Given the description of an element on the screen output the (x, y) to click on. 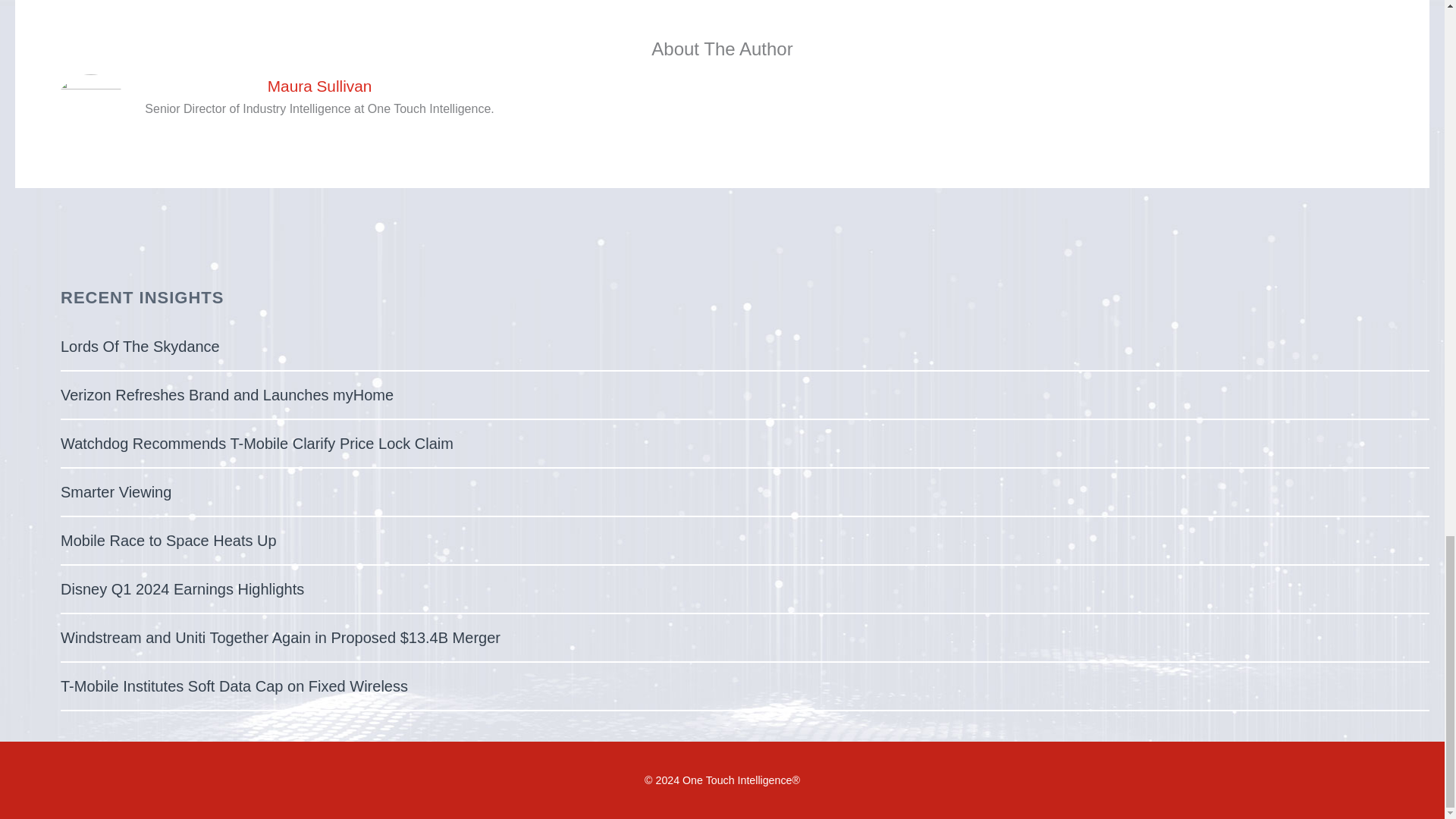
Mobile Race to Space Heats Up (168, 540)
Watchdog Recommends T-Mobile Clarify Price Lock Claim (256, 443)
Lords Of The Skydance (140, 346)
Smarter Viewing (116, 492)
T-Mobile Institutes Soft Data Cap on Fixed Wireless (234, 686)
Maura Sullivan (318, 85)
Verizon Refreshes Brand and Launches myHome (227, 394)
Disney Q1 2024 Earnings Highlights (182, 588)
